Given the description of an element on the screen output the (x, y) to click on. 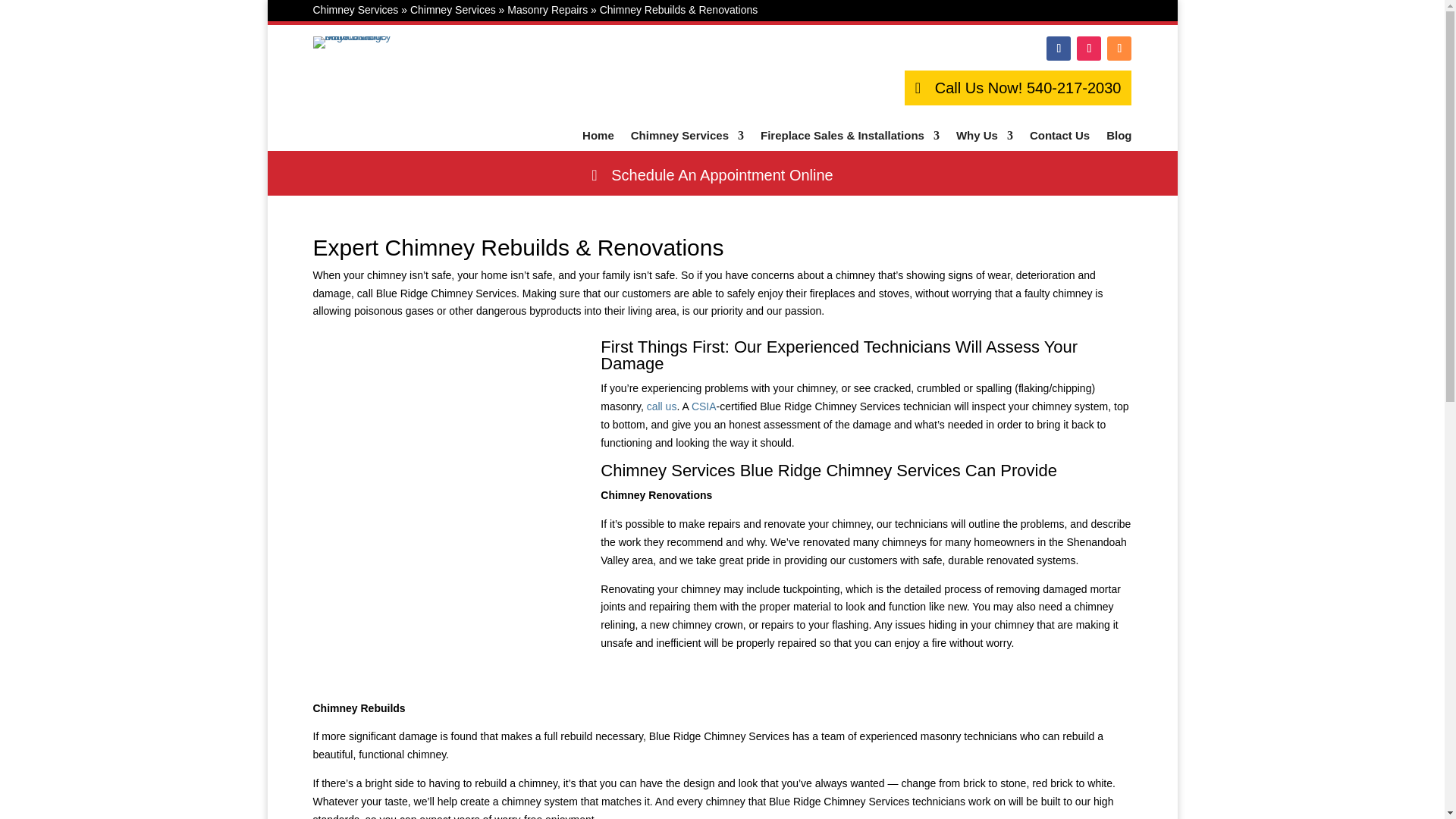
Follow on Facebook (1058, 48)
Chimney Services (687, 138)
Chimney Services (355, 9)
Home (598, 138)
Follow on Instagram (1088, 48)
Follow on RSS (1118, 48)
Masonry Repairs (547, 9)
BlueRidgeChimneyLogo (352, 42)
Chimney Services (453, 9)
Call Us Now! 540-217-2030 (1018, 87)
